Given the description of an element on the screen output the (x, y) to click on. 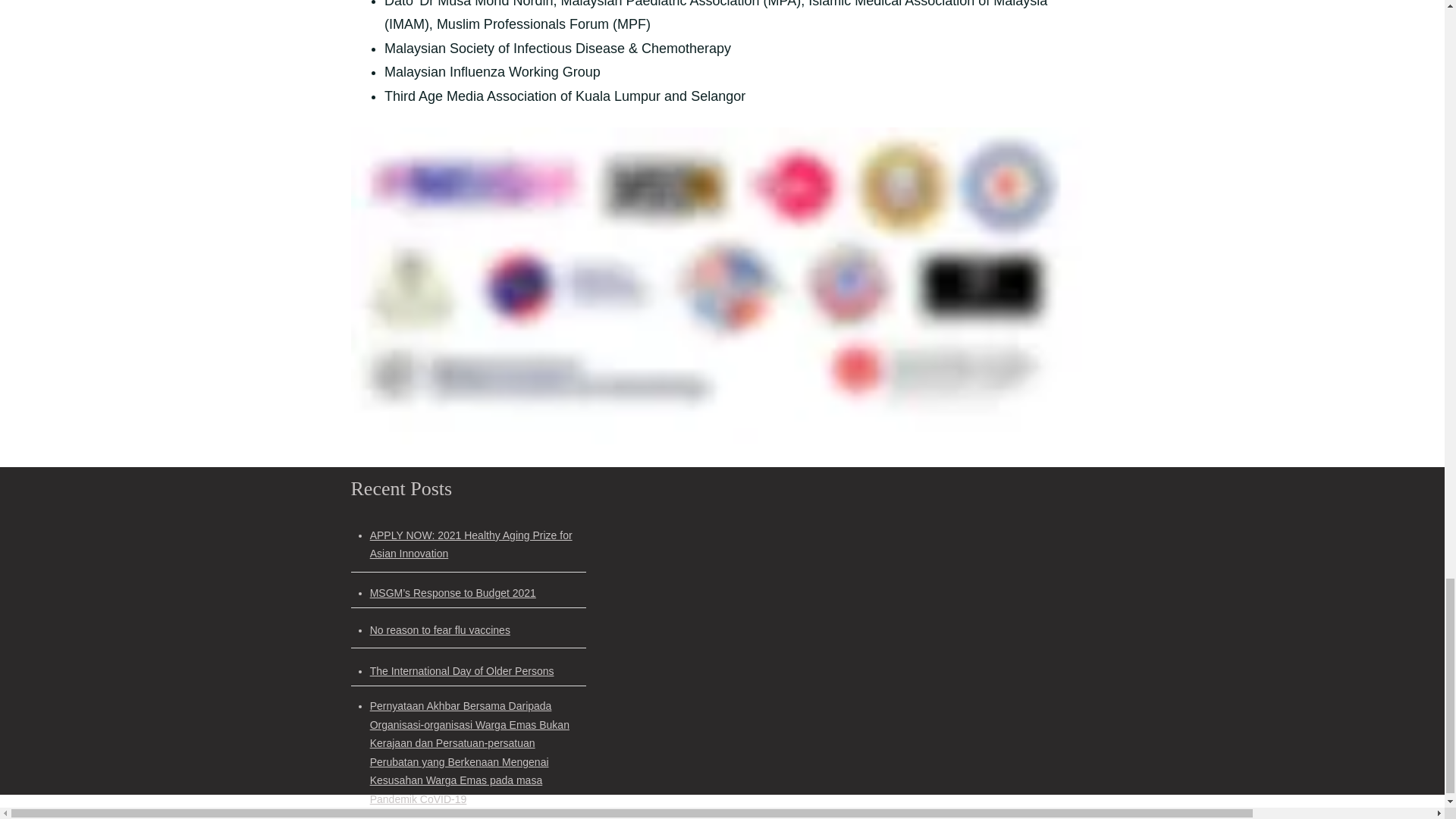
No reason to fear flu vaccines (440, 630)
The International Day of Older Persons (461, 671)
APPLY NOW: 2021 Healthy Aging Prize for Asian Innovation (470, 544)
